Given the description of an element on the screen output the (x, y) to click on. 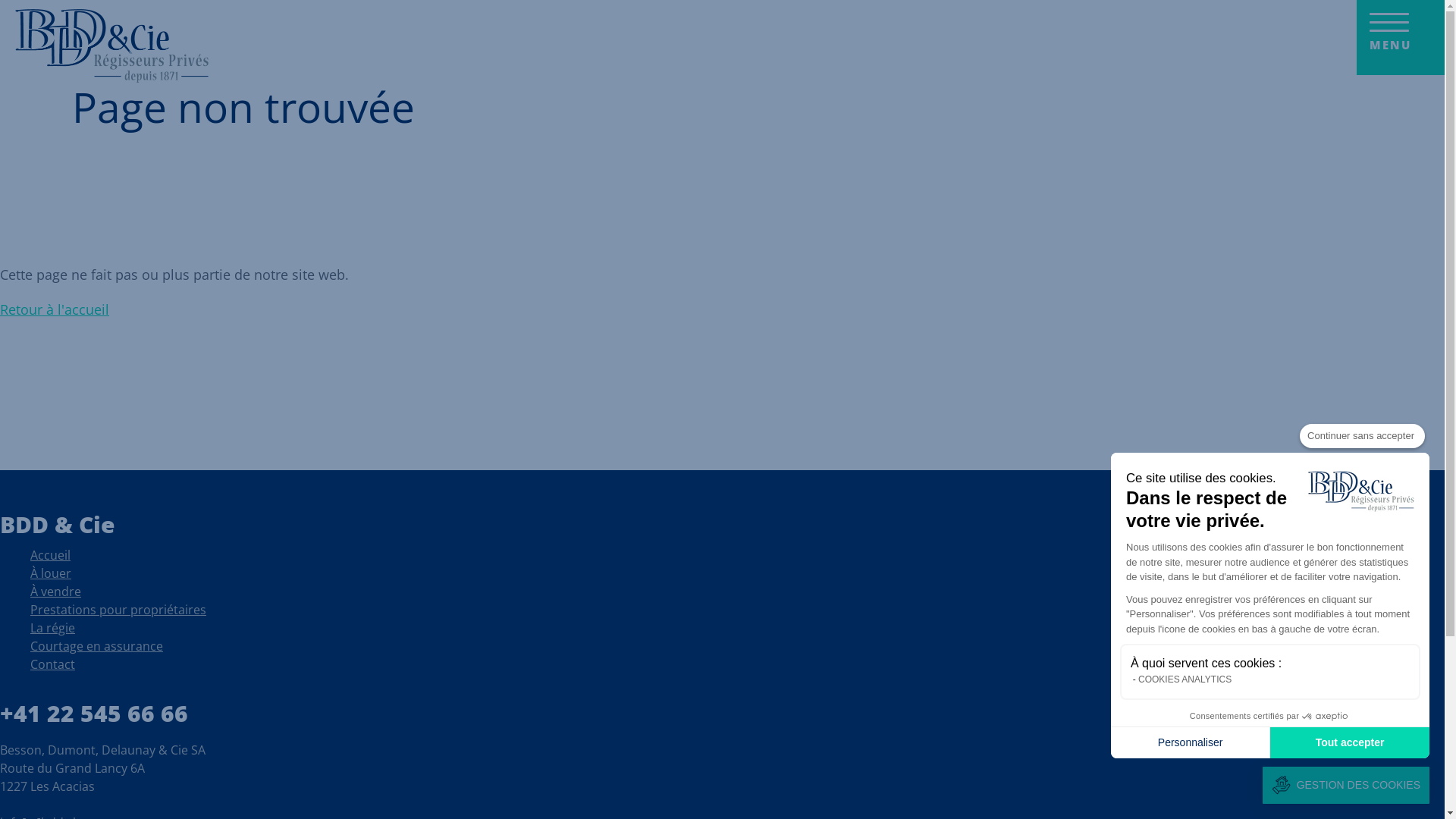
Courtage en assurance Element type: text (96, 648)
MENU Element type: text (1400, 37)
Accueil Element type: hover (112, 47)
Aller au contenu principal Element type: text (0, 0)
Accueil Element type: text (50, 557)
Contact Element type: text (52, 666)
